Given the description of an element on the screen output the (x, y) to click on. 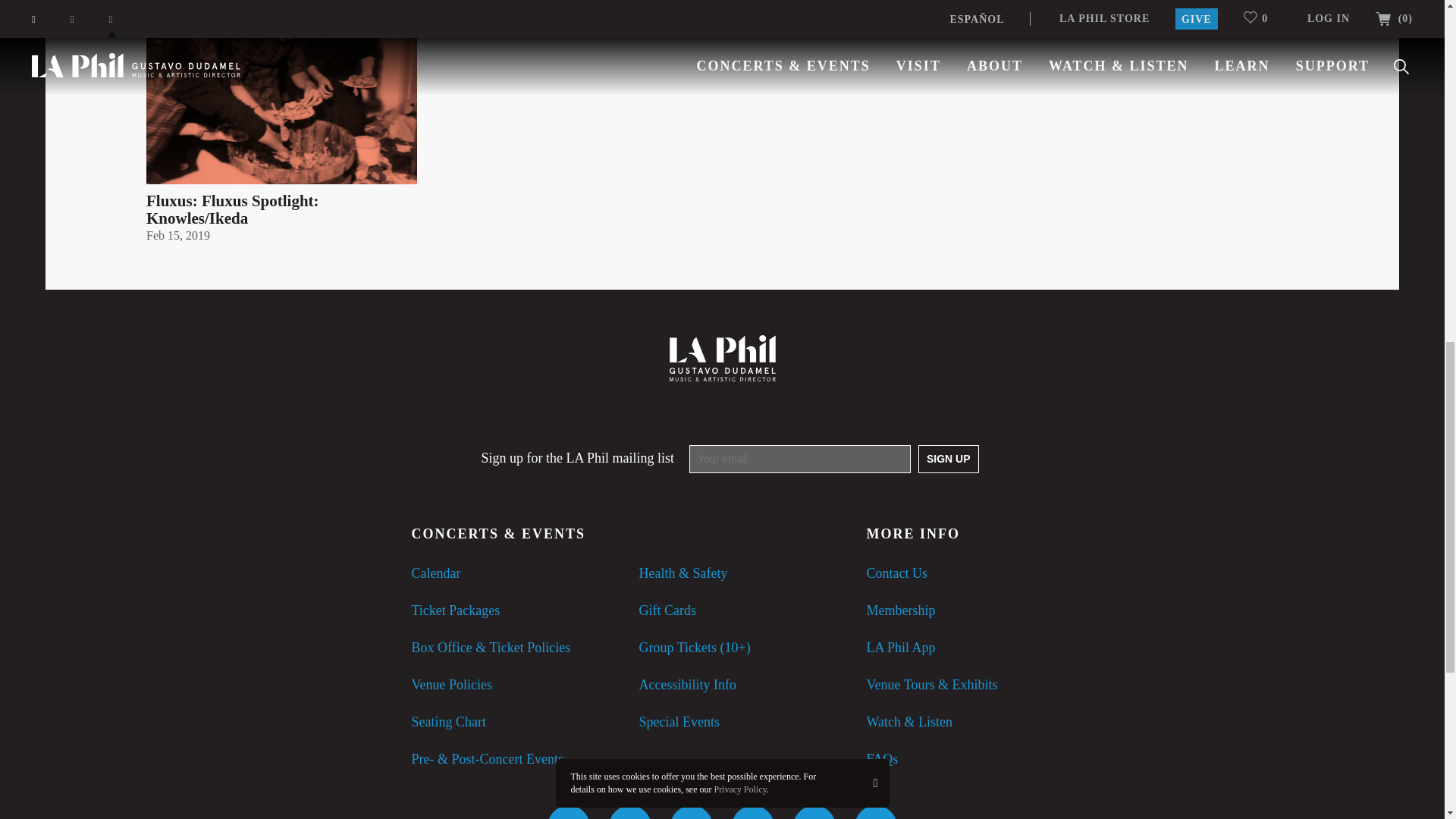
Sign Up (948, 459)
